Given the description of an element on the screen output the (x, y) to click on. 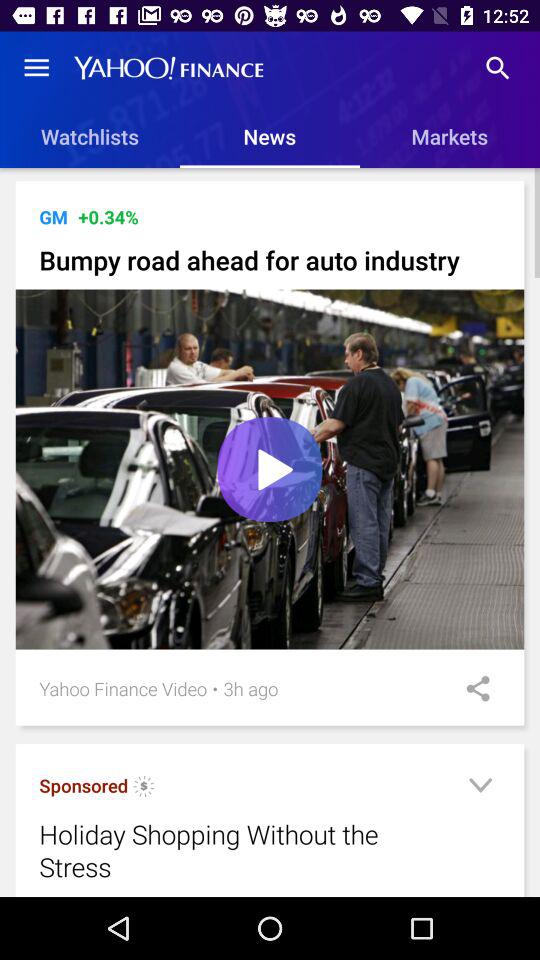
press item next to +0.33% icon (53, 216)
